Given the description of an element on the screen output the (x, y) to click on. 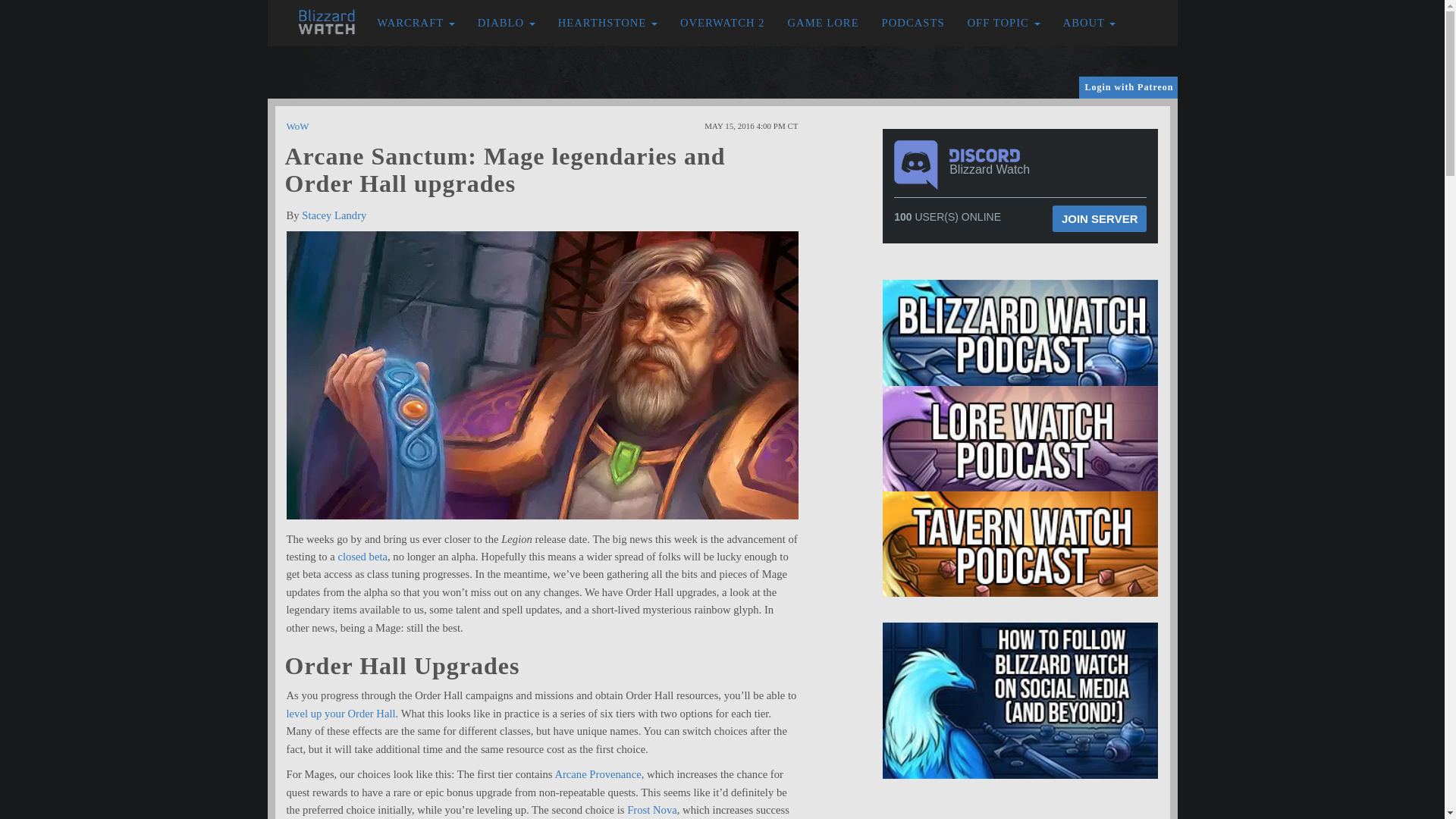
closed beta (362, 556)
WoW (297, 125)
Game Lore (823, 22)
OFF TOPIC (1003, 22)
HEARTHSTONE (607, 22)
Warcraft (415, 22)
GAME LORE (823, 22)
PODCASTS (913, 22)
OVERWATCH 2 (722, 22)
ABOUT (1088, 22)
